Given the description of an element on the screen output the (x, y) to click on. 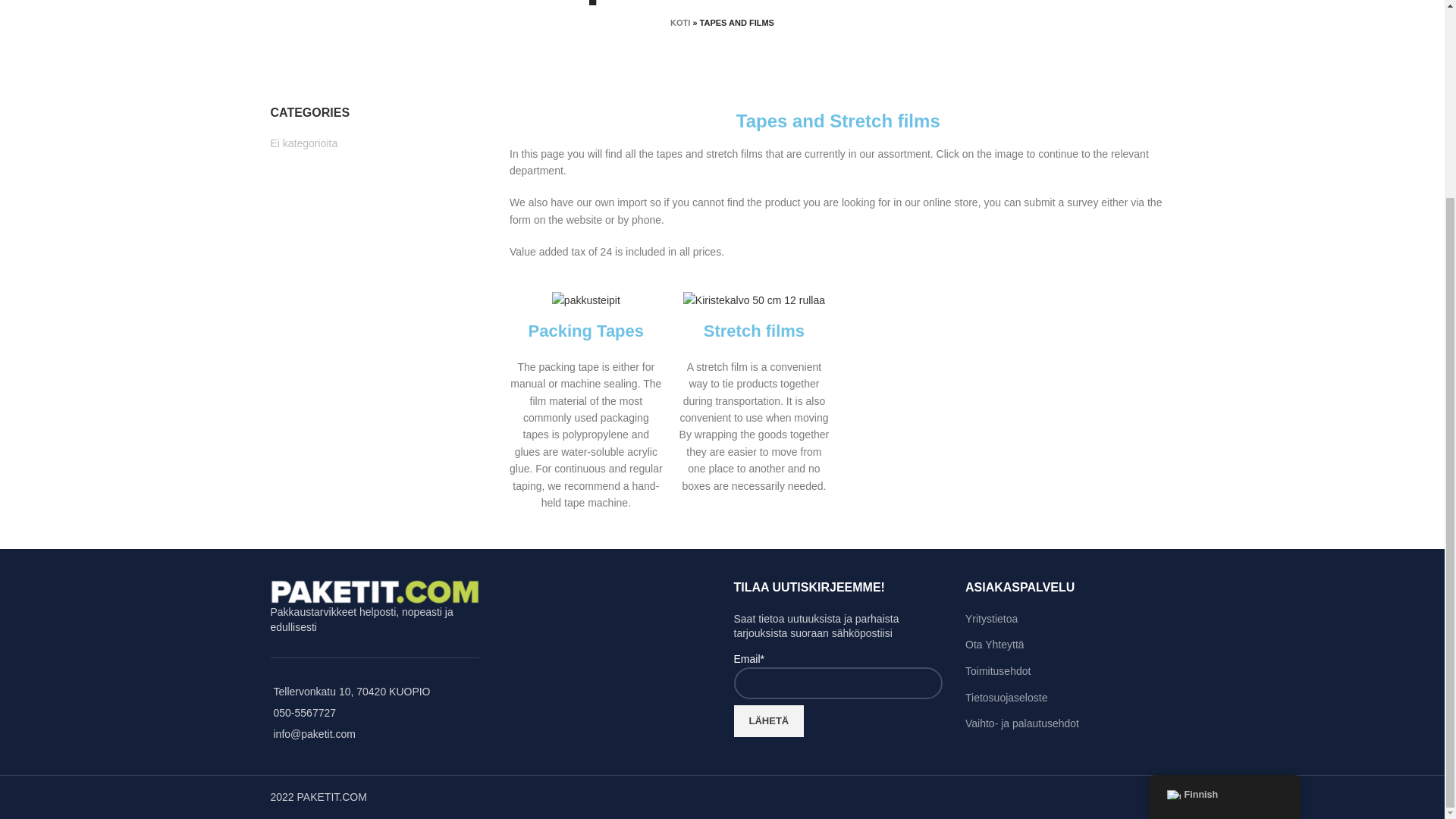
pakkusteipit (585, 299)
Kiristerulla 50cm (753, 299)
Finnish (1172, 543)
